Given the description of an element on the screen output the (x, y) to click on. 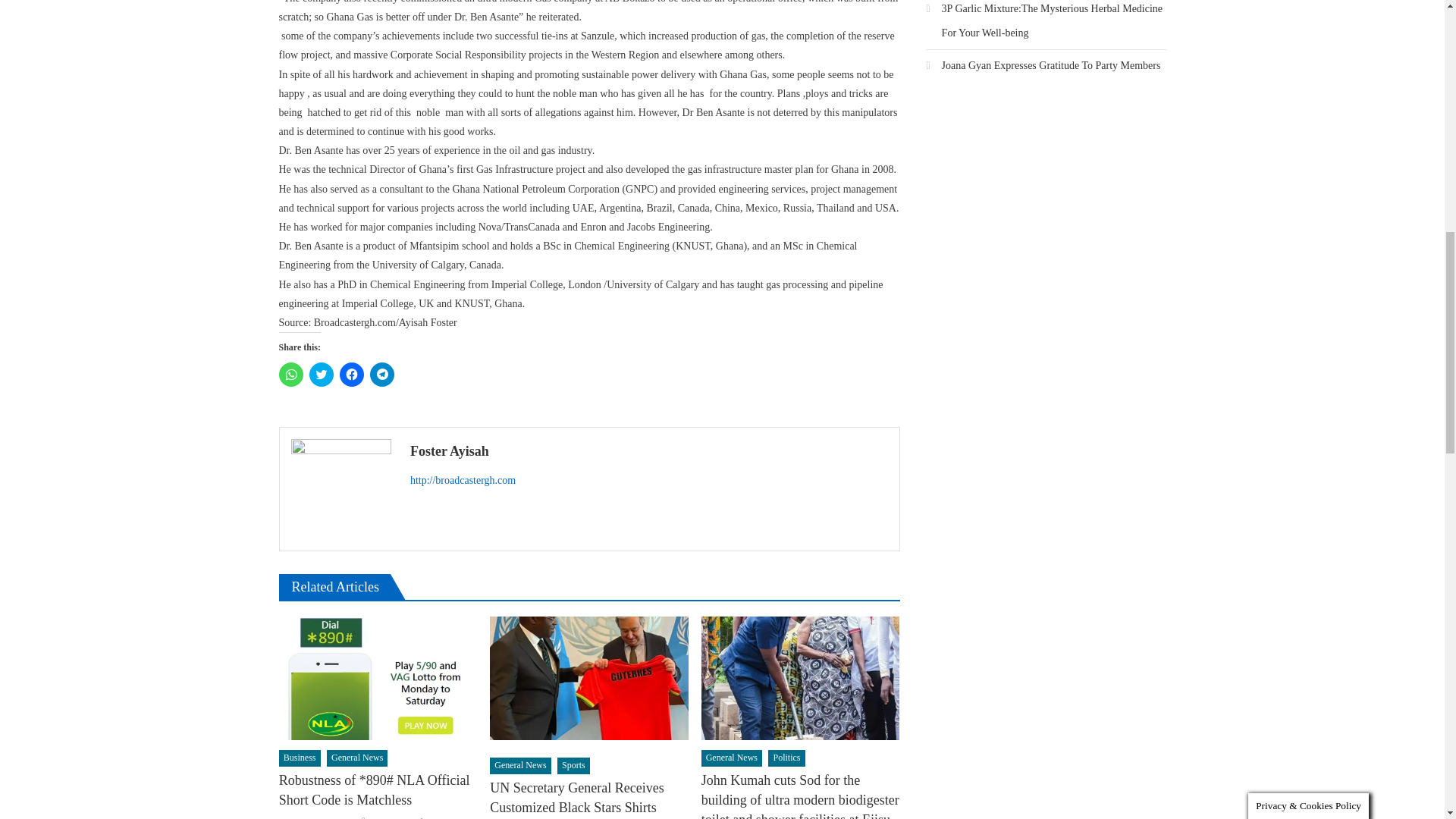
Click to share on WhatsApp (290, 374)
General News (519, 765)
Sports (573, 765)
Click to share on Telegram (381, 374)
Business (299, 758)
Click to share on Twitter (320, 374)
Foster Ayisah (399, 816)
April 18, 2020 (317, 817)
Foster Ayisah (649, 450)
Click to share on Facebook (351, 374)
General News (356, 758)
UN Secretary General Receives Customized Black Stars Shirts (588, 678)
